Given the description of an element on the screen output the (x, y) to click on. 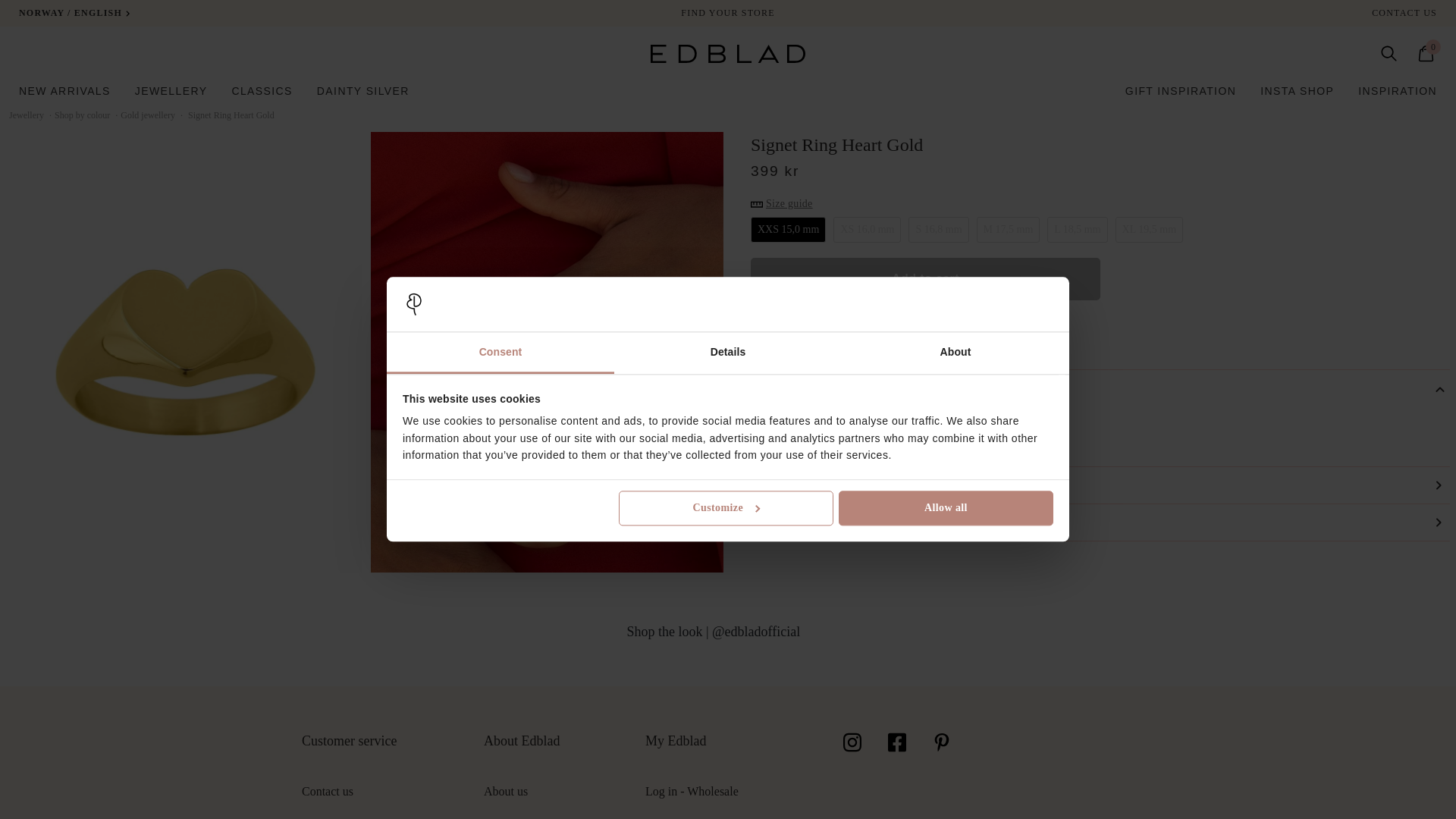
Home Page (727, 54)
Details (727, 352)
About (954, 352)
Consent (500, 352)
